Given the description of an element on the screen output the (x, y) to click on. 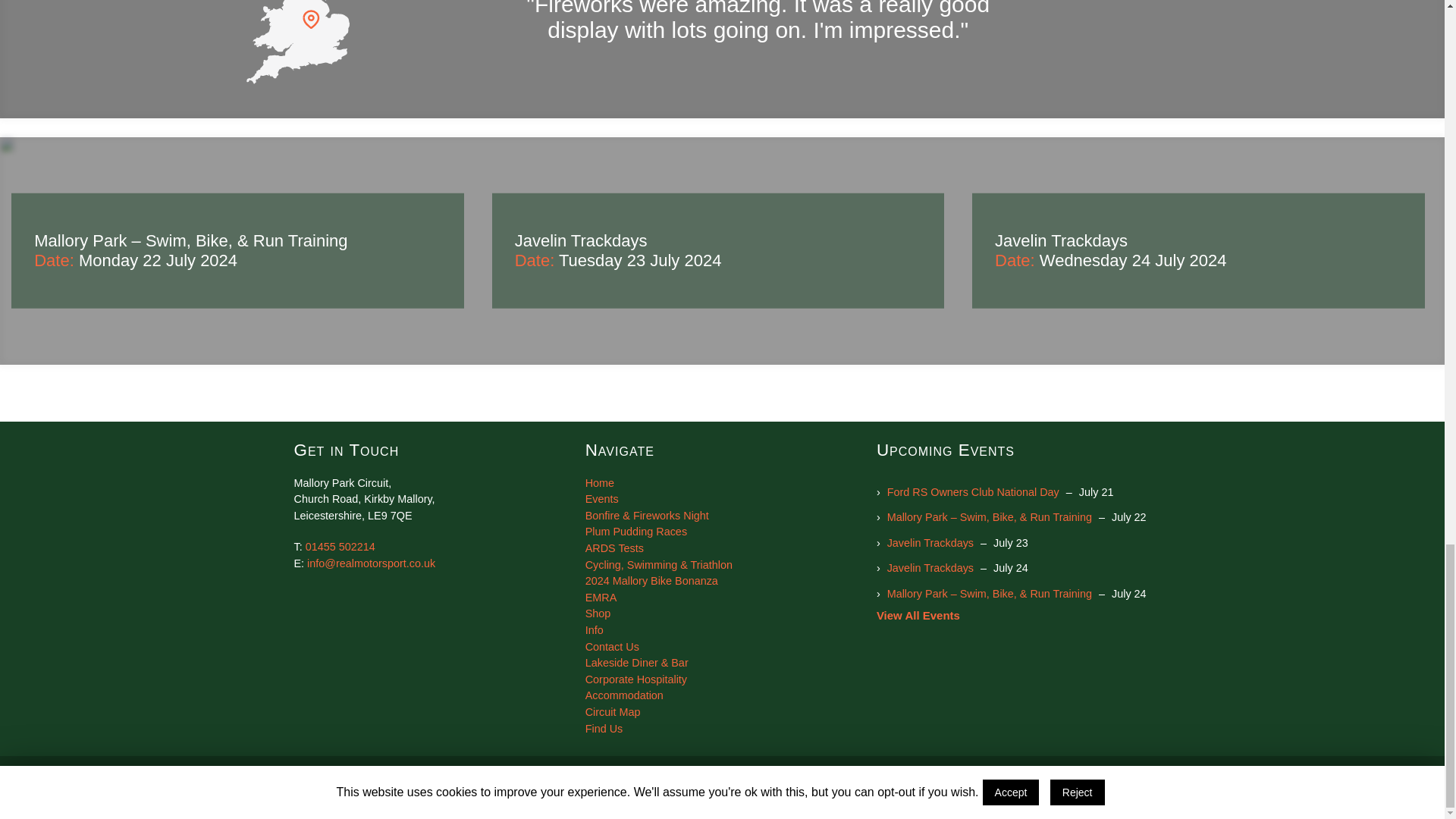
Web Design Hinckley (1009, 801)
